Given the description of an element on the screen output the (x, y) to click on. 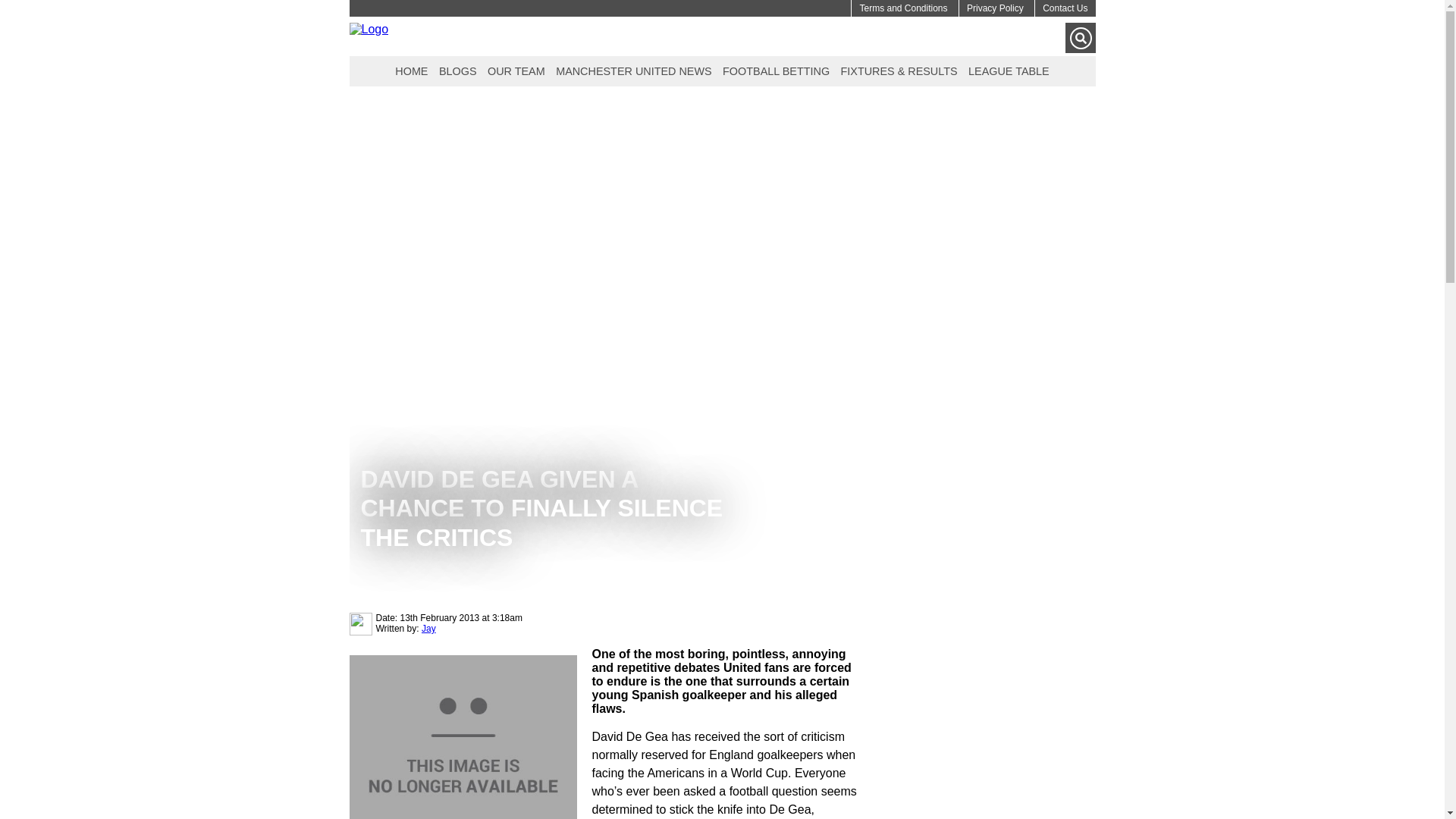
BLOGS (457, 69)
Posts by Jay (428, 628)
OUR TEAM (515, 69)
Jay (428, 628)
MANCHESTER UNITED NEWS (632, 69)
FOOTBALL BETTING (775, 69)
Terms and Conditions (903, 8)
Privacy Policy (994, 8)
LEAGUE TABLE (1007, 69)
Contact Us (1064, 8)
HOME (410, 69)
